Given the description of an element on the screen output the (x, y) to click on. 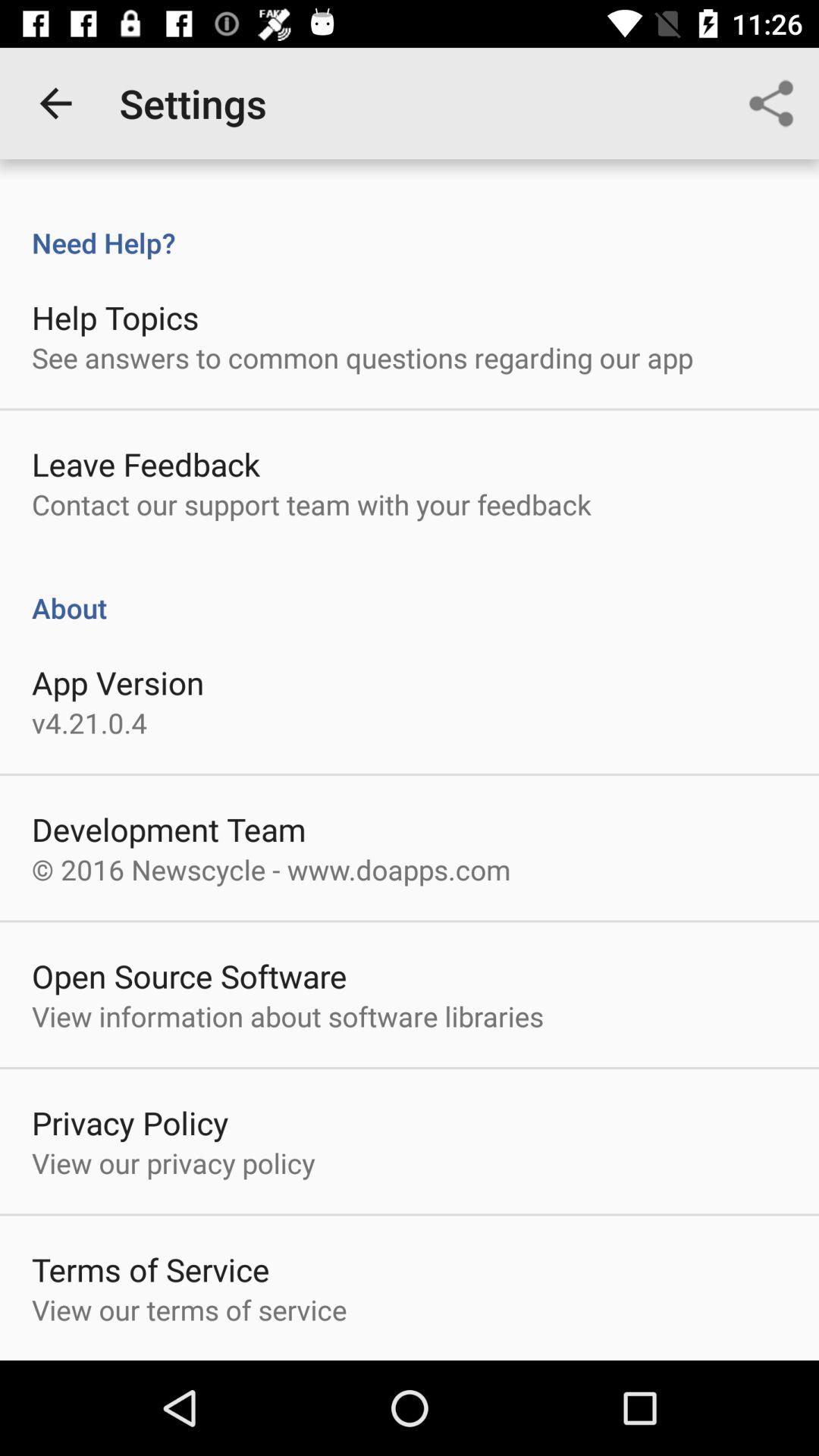
turn off the open source software icon (188, 975)
